Given the description of an element on the screen output the (x, y) to click on. 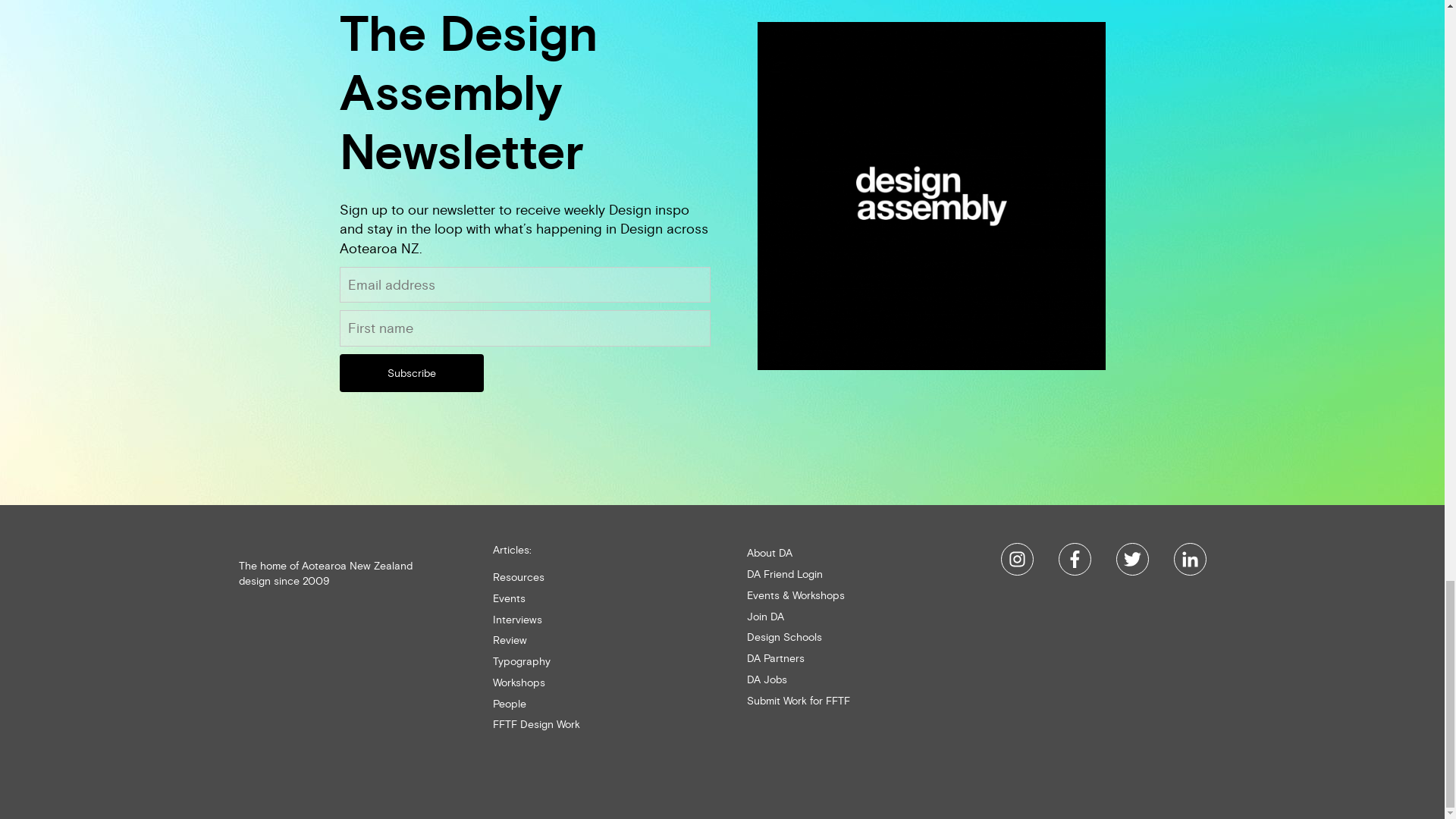
Subscribe (411, 372)
